Given the description of an element on the screen output the (x, y) to click on. 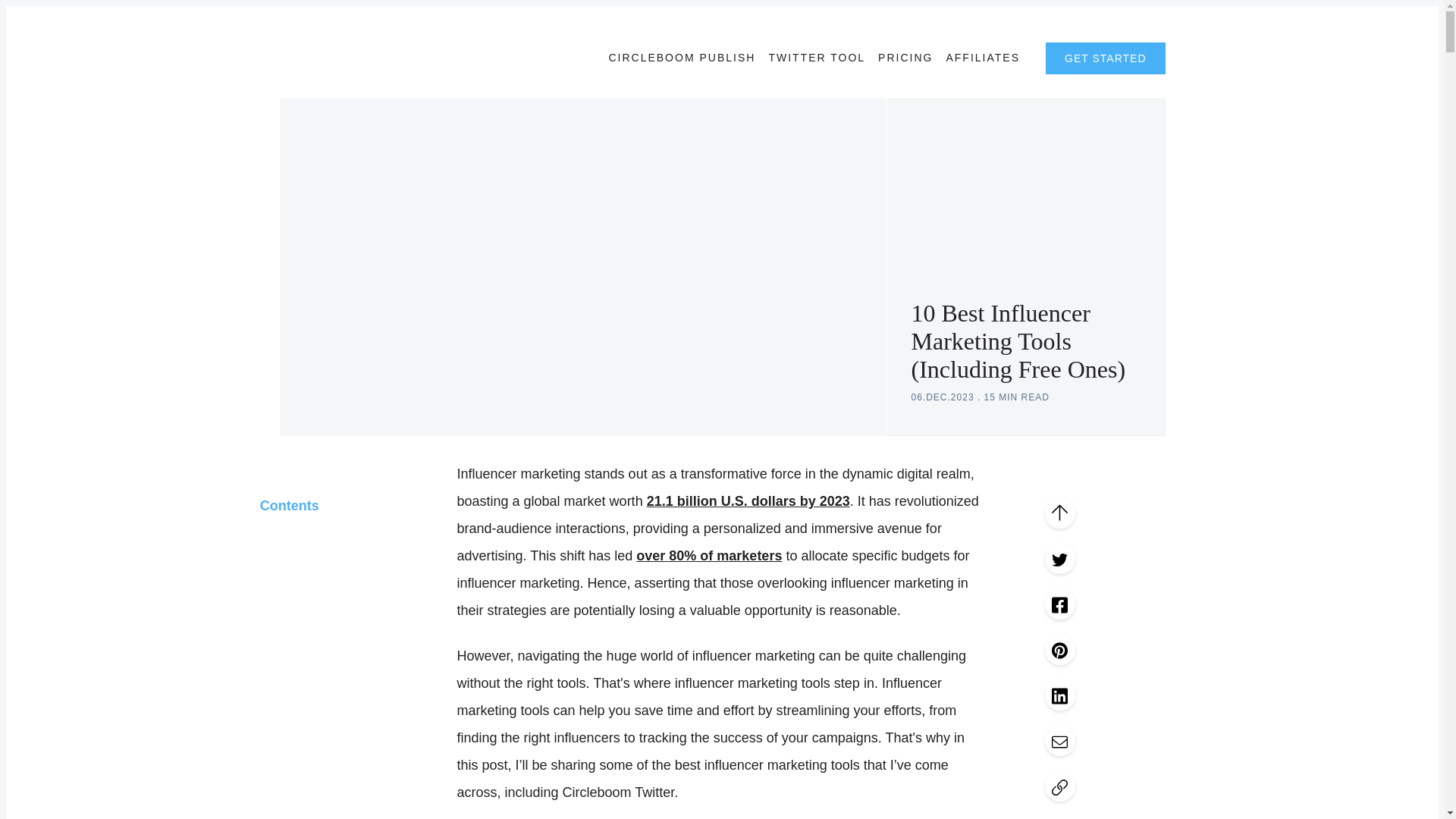
Share on Pinterest (1060, 649)
PRICING (905, 57)
GET STARTED (1104, 58)
Share via Email (1060, 740)
Share on Twitter (1060, 558)
21.1 billion U.S. dollars by 2023 (748, 500)
TWITTER TOOL (816, 57)
AFFILIATES (982, 57)
CIRCLEBOOM PUBLISH (681, 57)
Share on LinkedIn (1060, 695)
Share on Facebook (1060, 603)
Copy link (1060, 786)
